Given the description of an element on the screen output the (x, y) to click on. 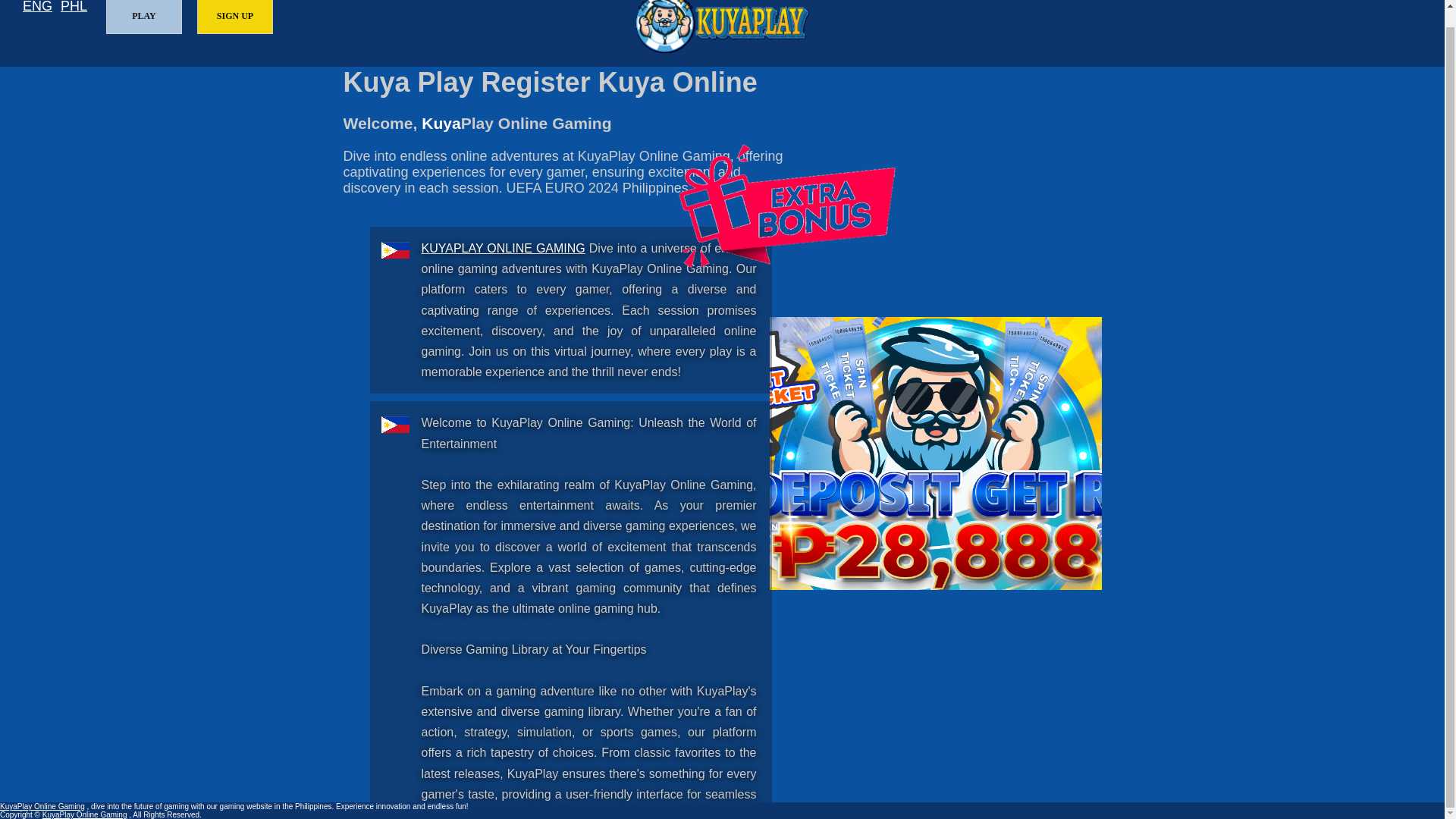
Filipino (74, 7)
KuyaPlay Online Gaming (503, 247)
Kuyaplay (721, 27)
English (37, 7)
SIGN UP (234, 17)
KUYAPLAY ONLINE GAMING (503, 247)
PLAY (144, 17)
KuyaPlay Online Gaming (42, 806)
ENG (37, 7)
PHL (74, 7)
